Given the description of an element on the screen output the (x, y) to click on. 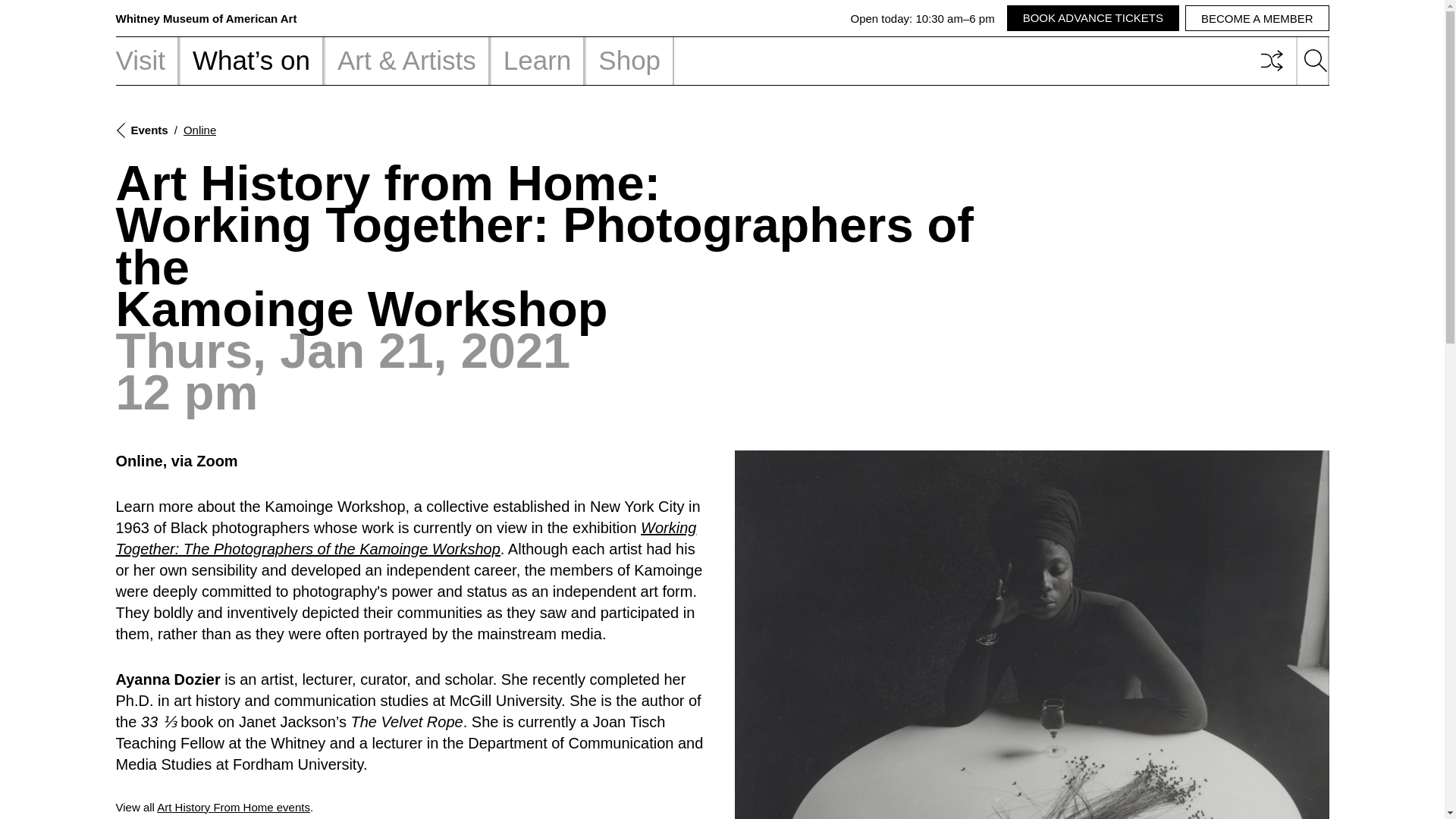
Learn (1093, 18)
Whitney Museum of American Art (537, 60)
BECOME A MEMBER (206, 18)
Visit (1257, 18)
